Given the description of an element on the screen output the (x, y) to click on. 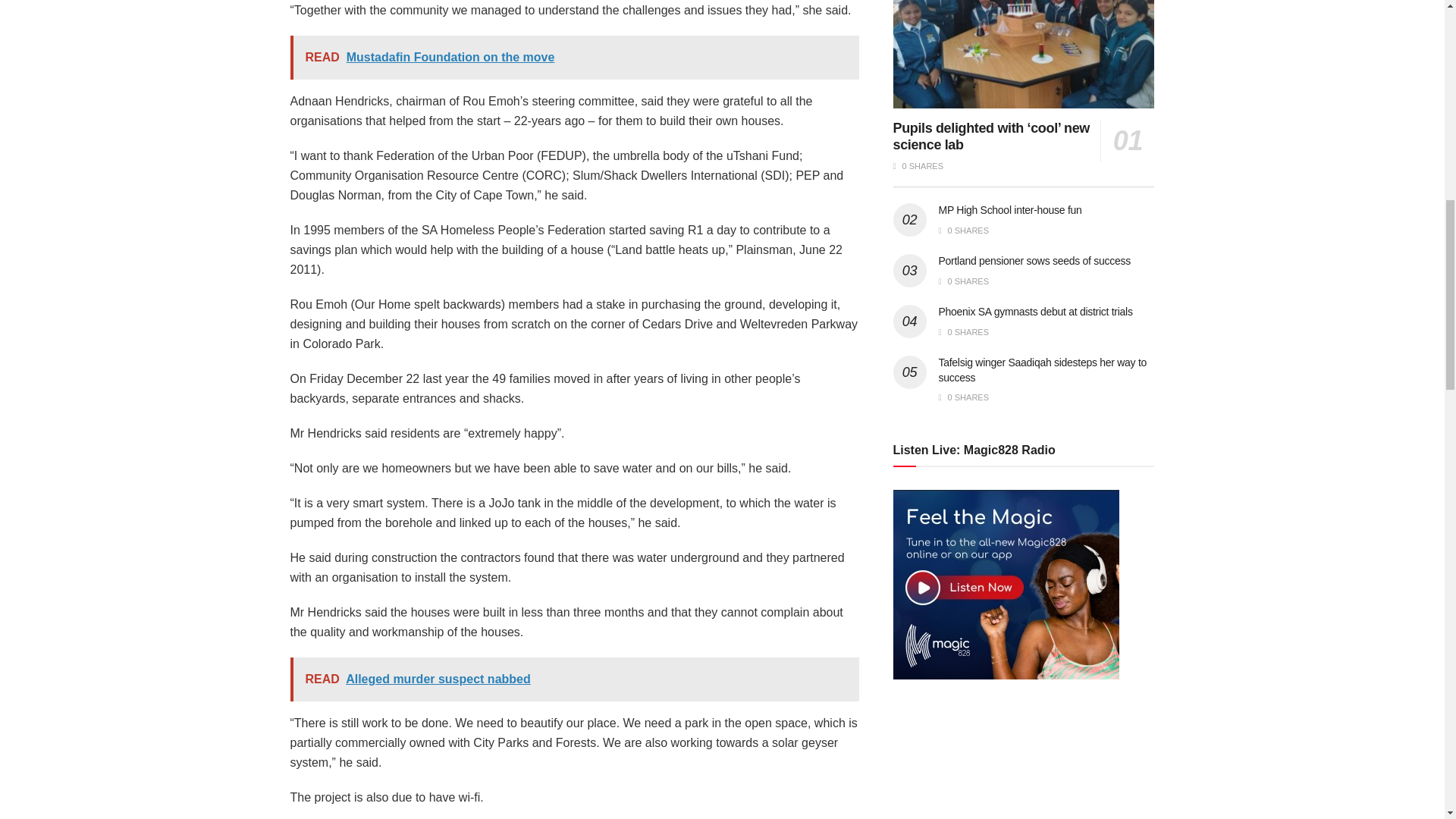
READ  Mustadafin Foundation on the move (574, 57)
READ  Alleged murder suspect nabbed (574, 679)
